Given the description of an element on the screen output the (x, y) to click on. 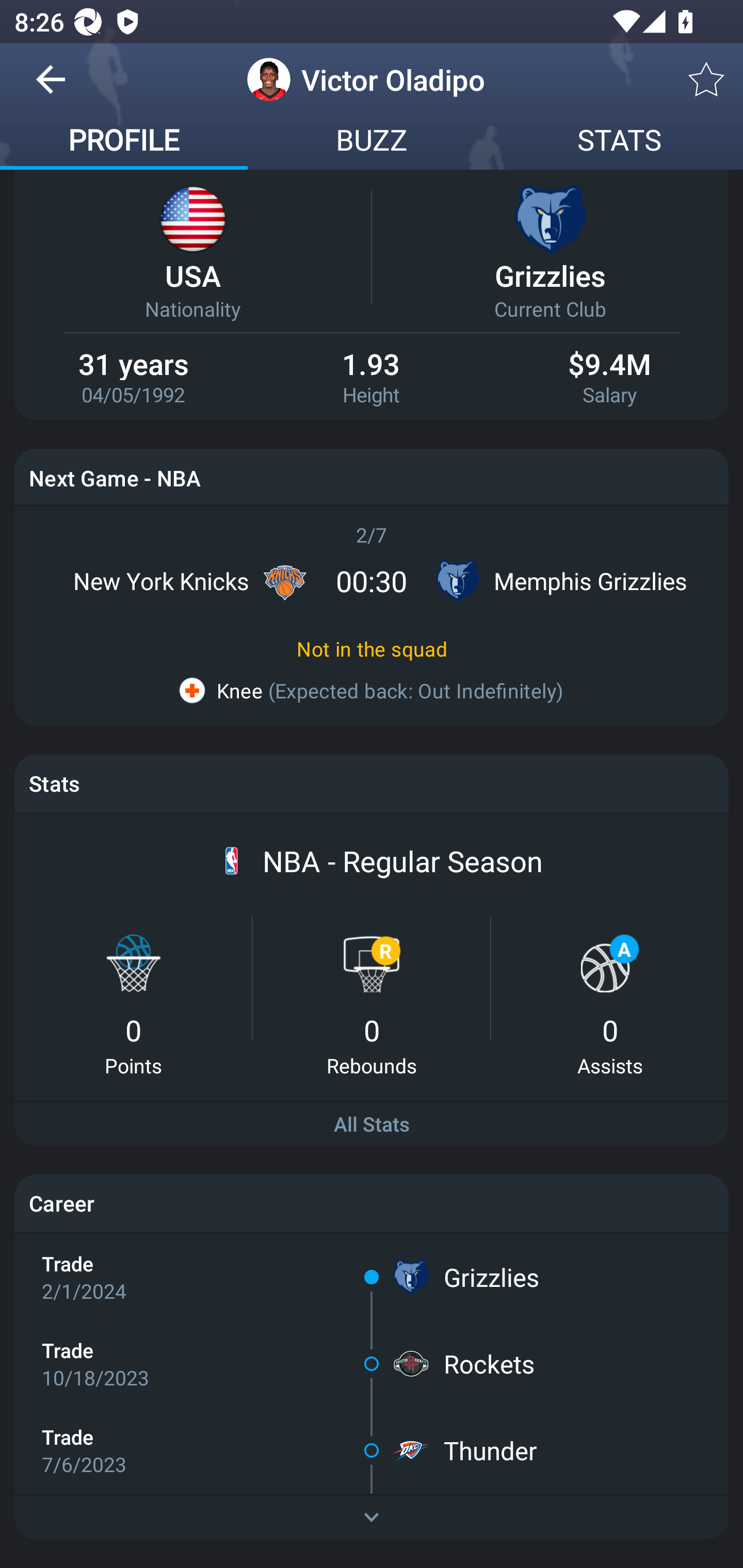
Navigate up (50, 86)
PROFILE (123, 142)
BUZZ (371, 142)
STATS (619, 142)
2/7 New York Knicks 00:30 Memphis Grizzlies (371, 566)
Stats (371, 783)
NBA - Regular Season (402, 861)
All Stats (371, 1124)
Career (371, 1203)
Grizzlies (491, 1276)
Rockets (488, 1363)
Thunder (490, 1450)
